Given the description of an element on the screen output the (x, y) to click on. 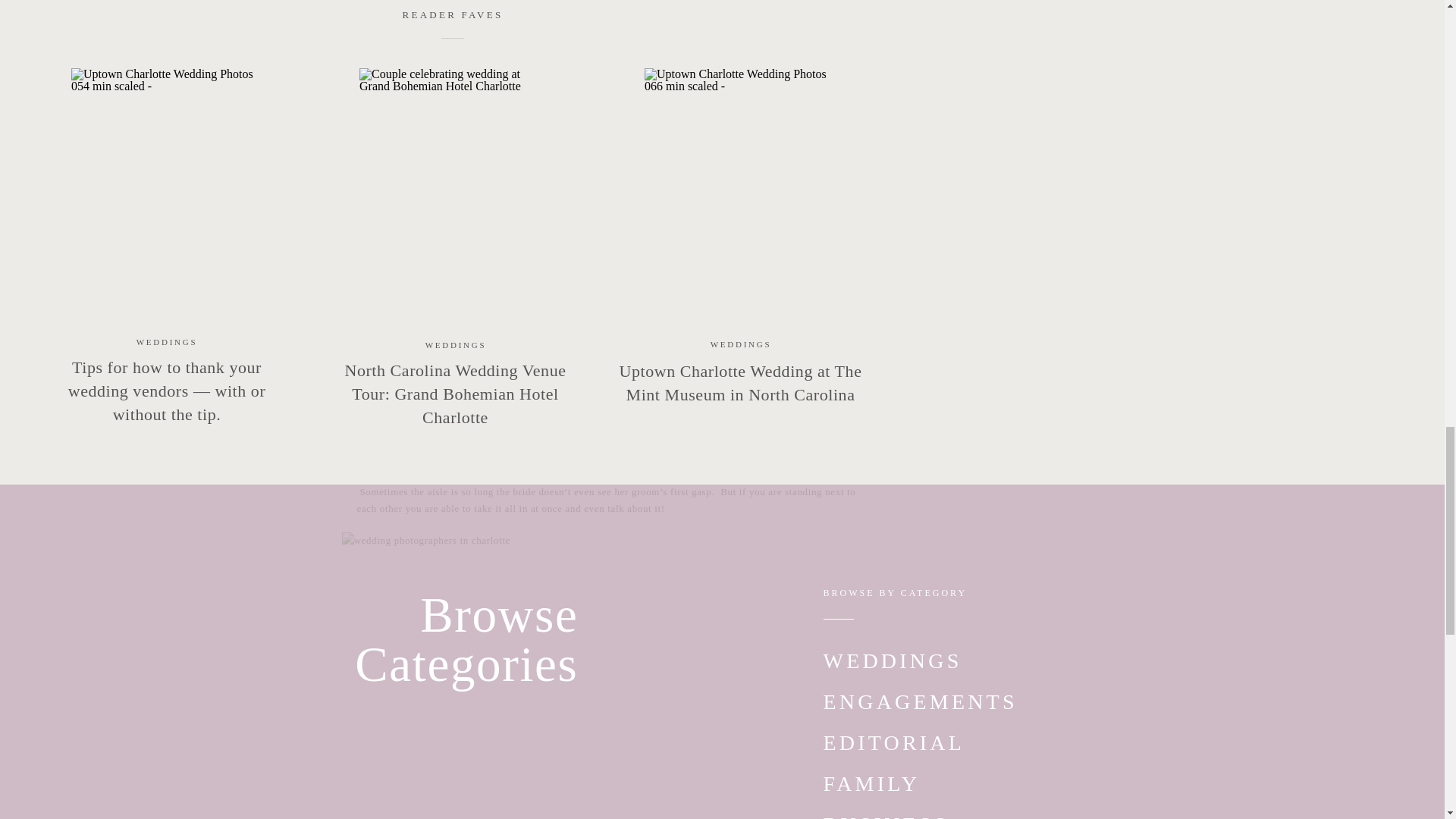
WEDDINGS (167, 341)
